Given the description of an element on the screen output the (x, y) to click on. 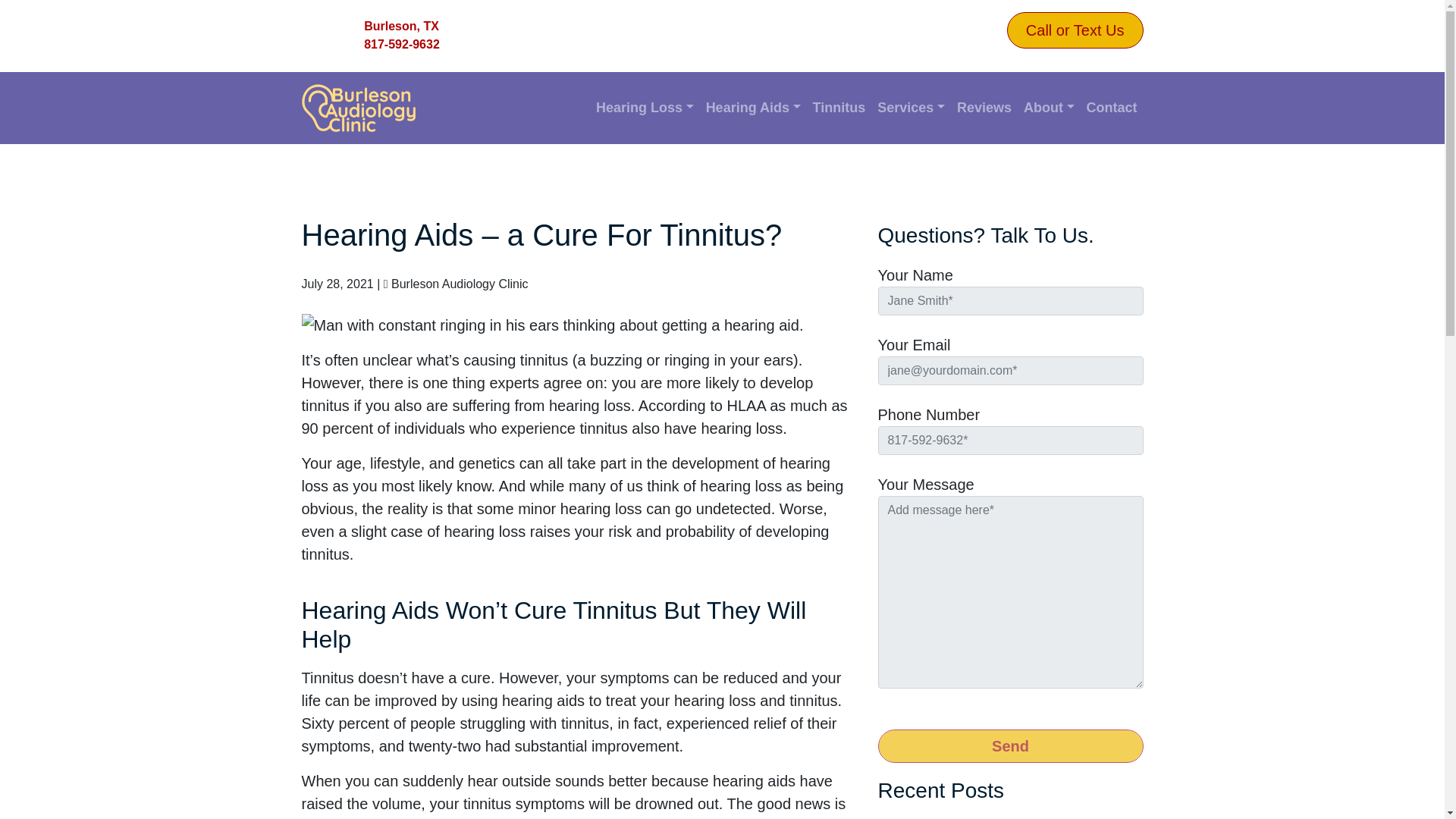
Tinnitus (839, 107)
Hearing Loss (644, 107)
Contact (1111, 107)
Call or Text Us (1074, 30)
Burleson, TX (401, 26)
Send (1009, 745)
Hearing Aids (753, 107)
Services (910, 107)
About (1048, 107)
Reviews (983, 107)
Send (1009, 745)
817-592-9632 (401, 45)
